Given the description of an element on the screen output the (x, y) to click on. 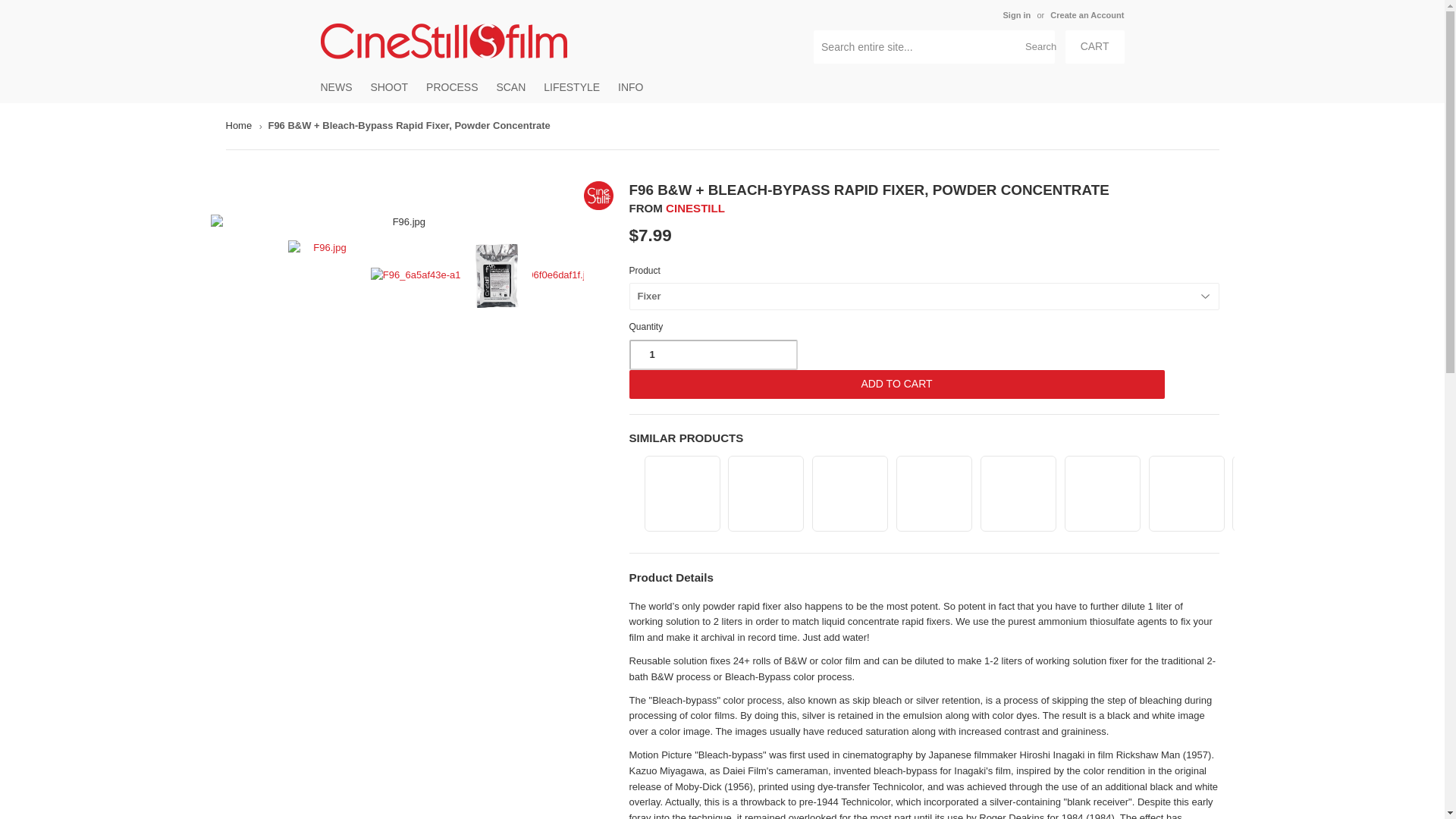
Back to the frontpage (241, 125)
Create an Account (1086, 14)
NEWS (336, 87)
CART (1094, 46)
1 (712, 354)
PROCESS (451, 87)
Search (1037, 47)
Sign in (1016, 14)
SHOOT (388, 87)
SCAN (509, 87)
